Given the description of an element on the screen output the (x, y) to click on. 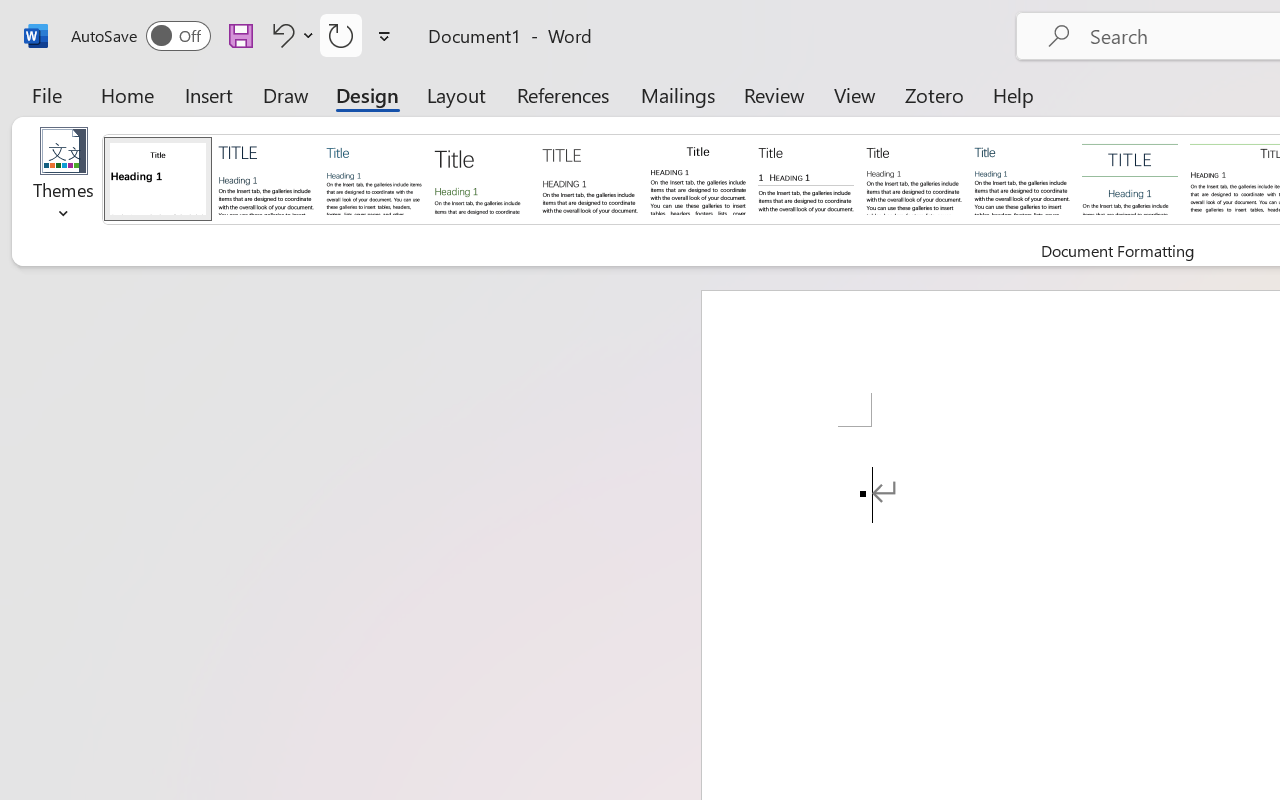
Repeat Style (341, 35)
Casual (1021, 178)
Centered (1130, 178)
Black & White (Numbered) (806, 178)
Basic (Elegant) (266, 178)
Undo Style (280, 35)
